Given the description of an element on the screen output the (x, y) to click on. 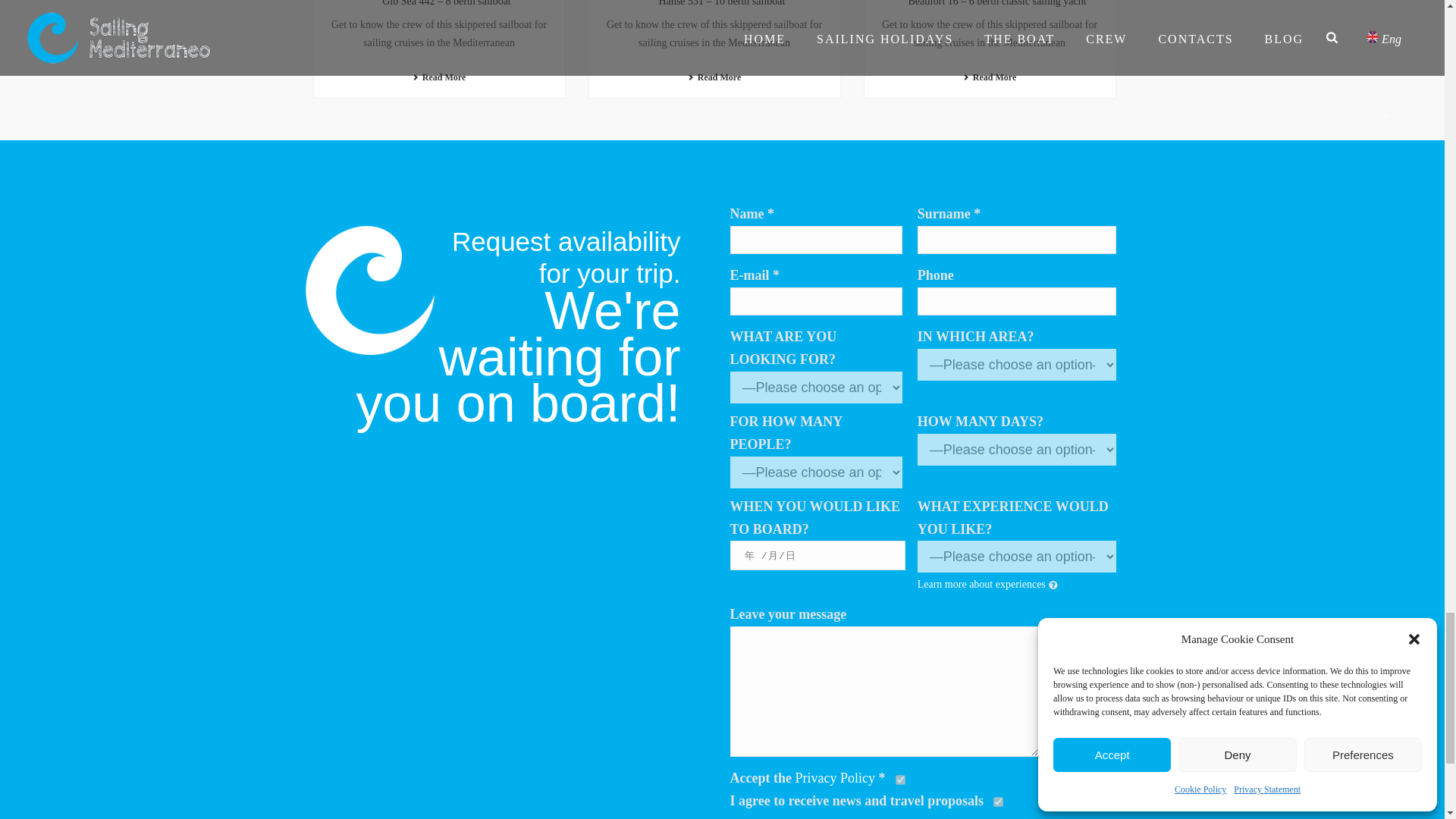
1 (900, 779)
1 (997, 801)
